Given the description of an element on the screen output the (x, y) to click on. 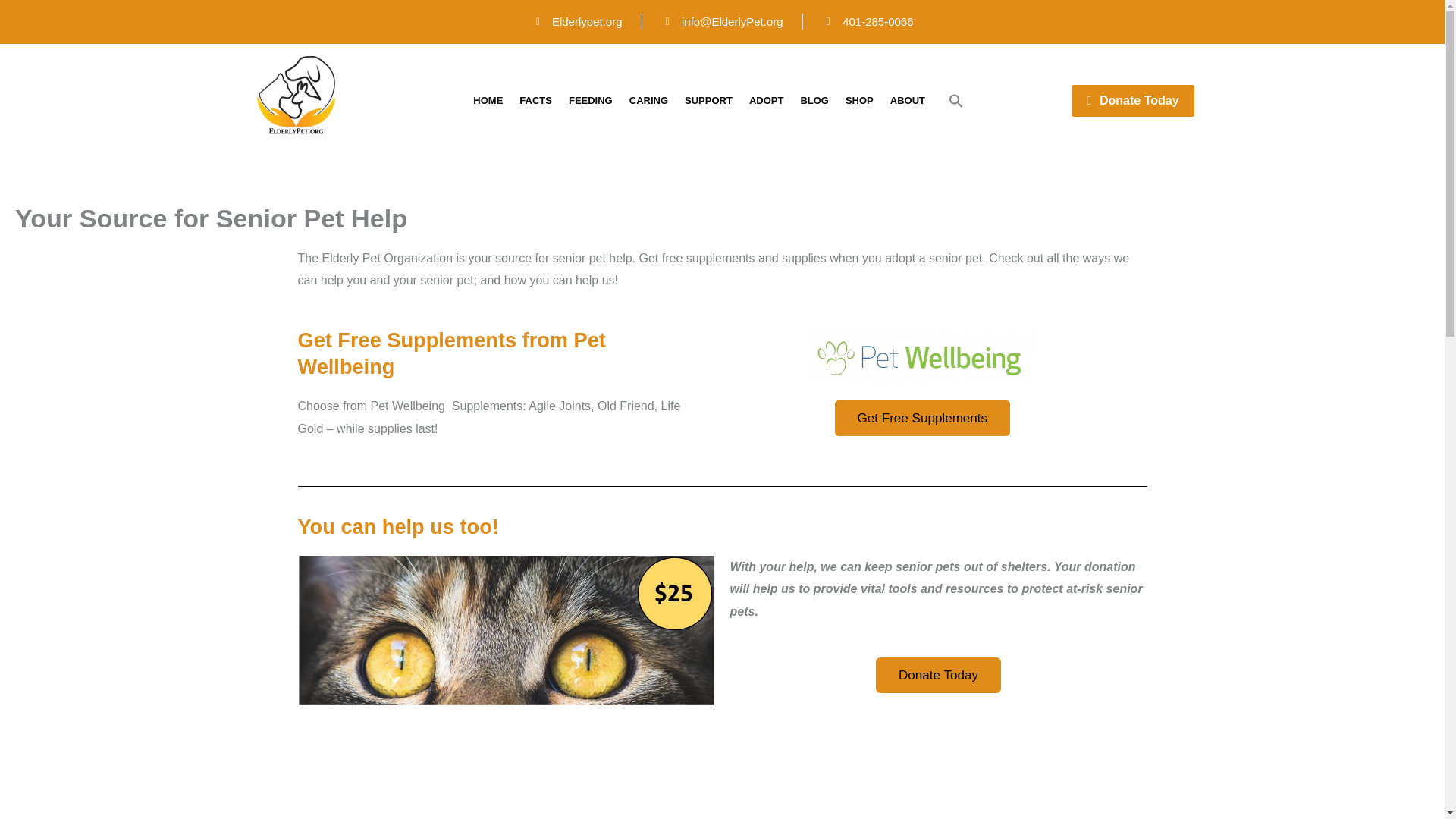
Elderlypet.org (576, 21)
BLOG (814, 100)
FACTS (535, 100)
ADOPT (766, 100)
ABOUT (907, 100)
401-285-0066 (868, 21)
HOME (487, 100)
CARING (649, 100)
SHOP (859, 100)
FEEDING (590, 100)
